Given the description of an element on the screen output the (x, y) to click on. 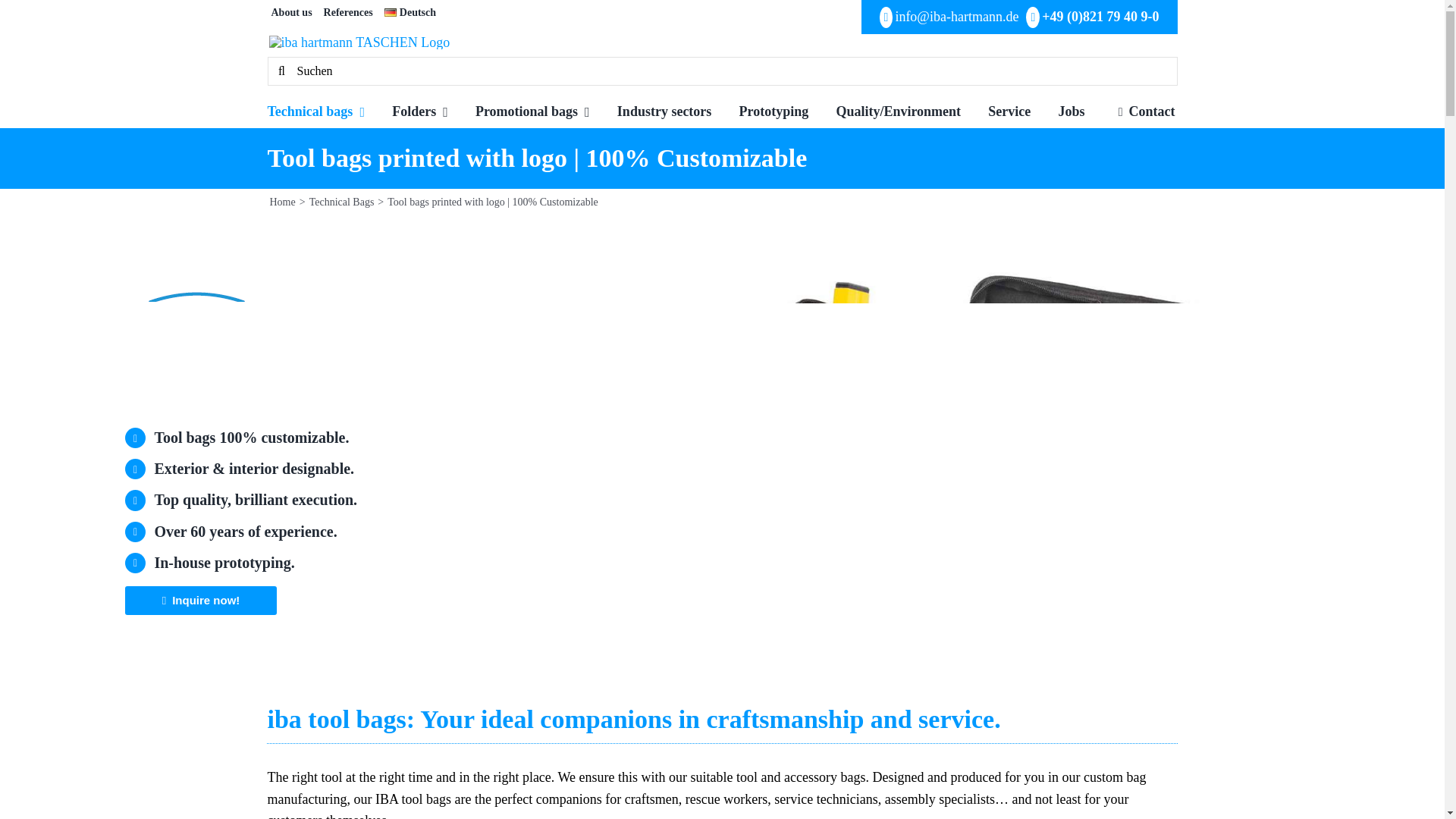
About us (291, 12)
References (347, 12)
Deutsch (409, 12)
